Given the description of an element on the screen output the (x, y) to click on. 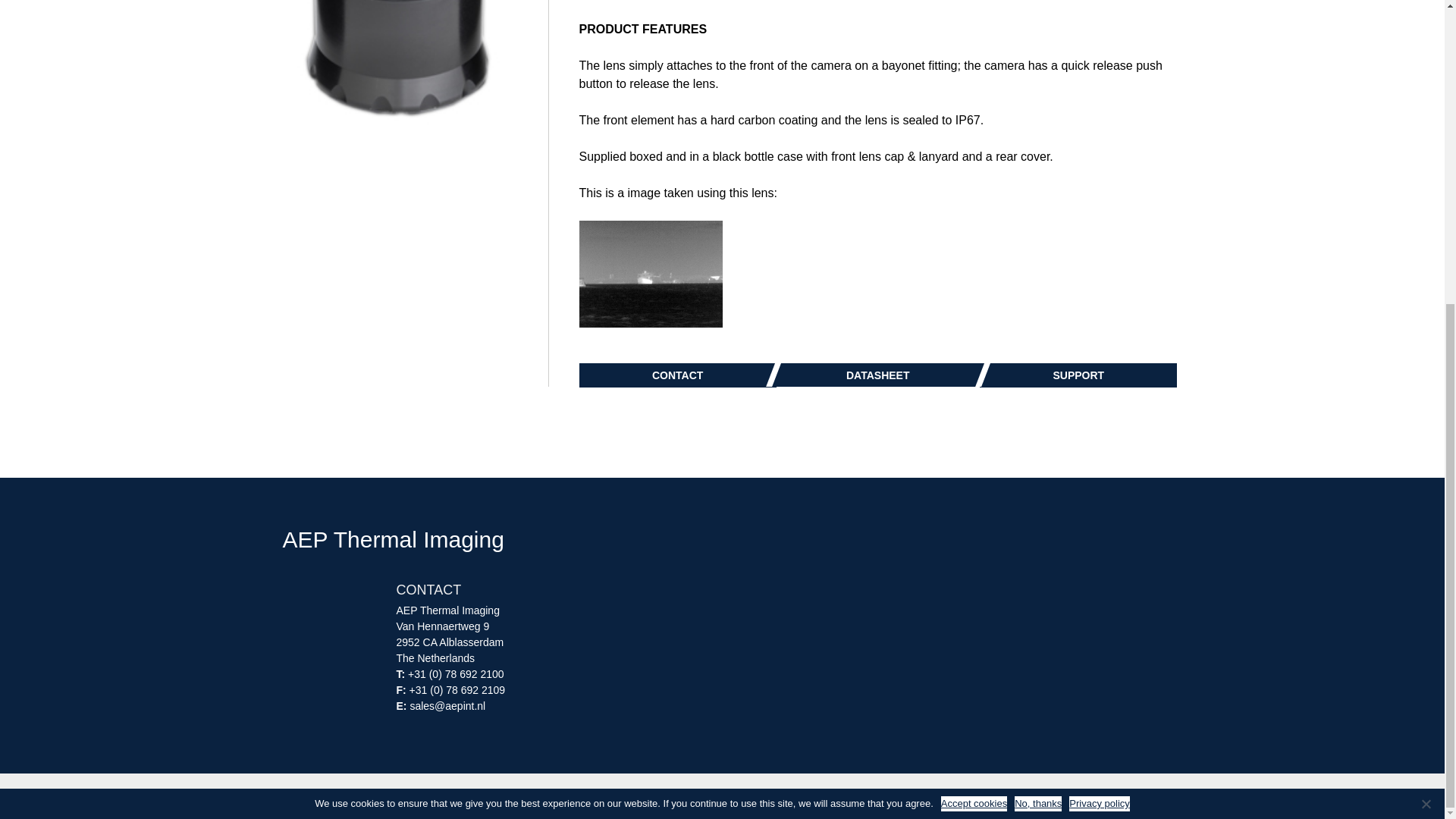
Sitemap (499, 798)
Lens-E (395, 65)
SUPPORT (1077, 374)
CONTACT (677, 374)
No, thanks (1425, 328)
DATASHEET (873, 374)
